Given the description of an element on the screen output the (x, y) to click on. 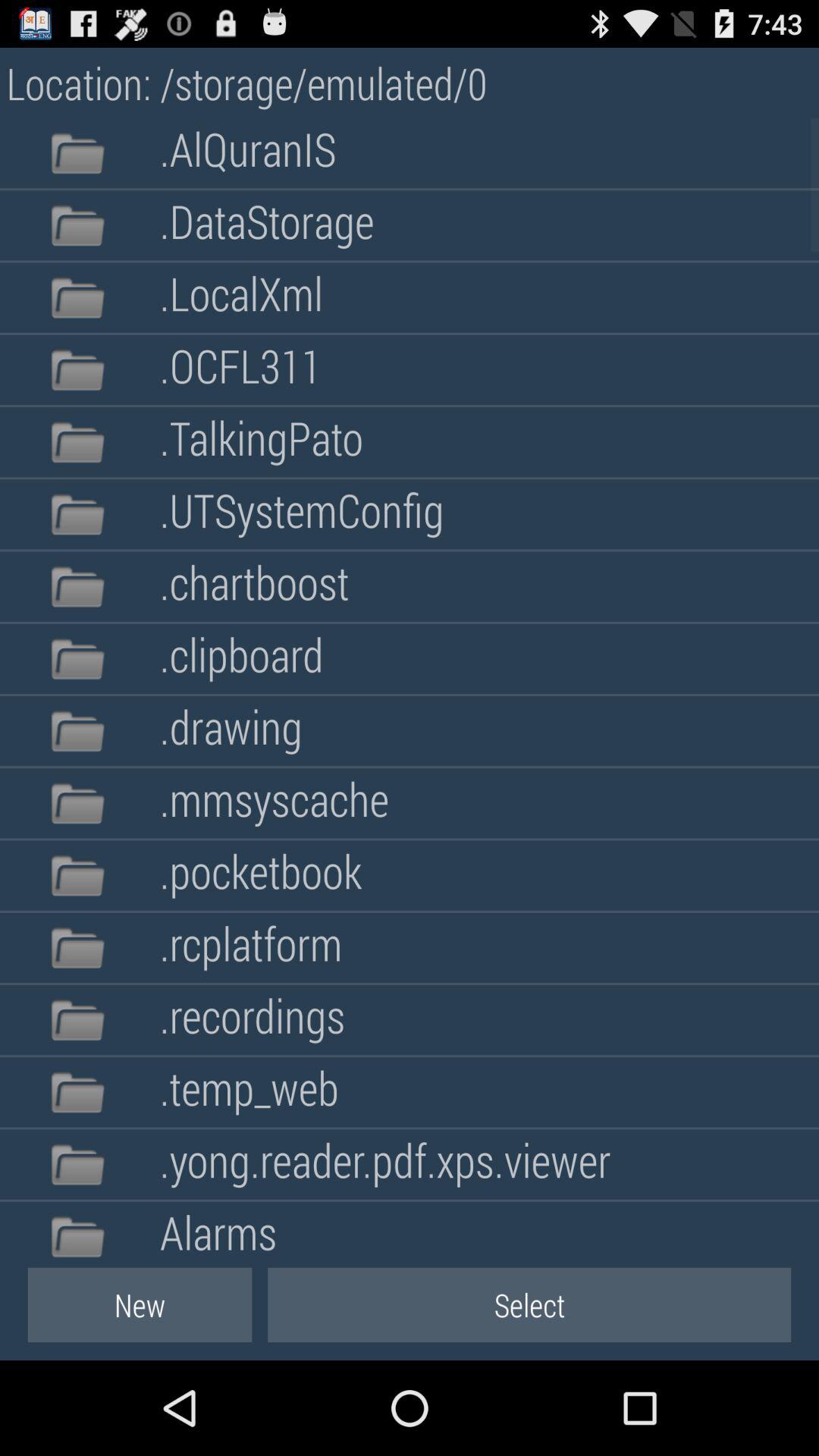
flip to the .localxml icon (241, 297)
